Given the description of an element on the screen output the (x, y) to click on. 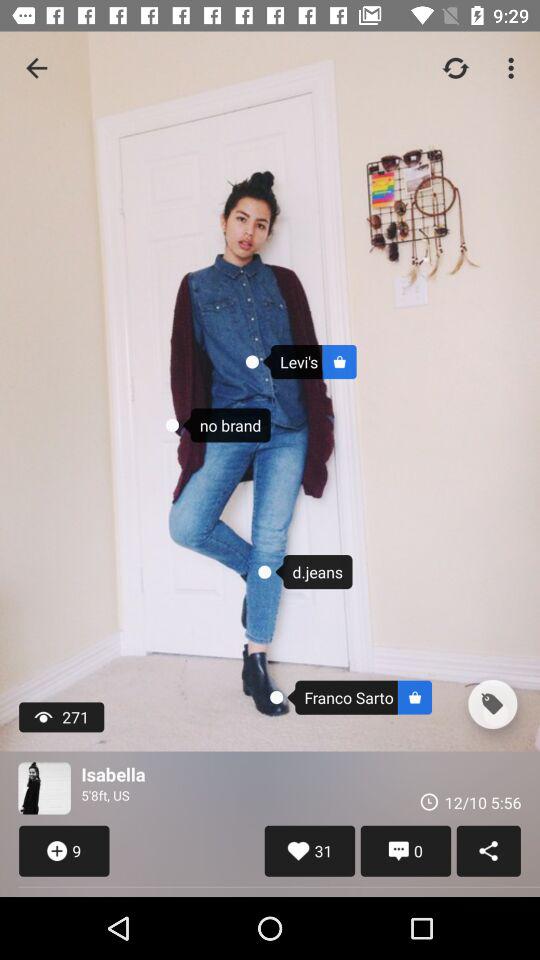
isabella (44, 788)
